Given the description of an element on the screen output the (x, y) to click on. 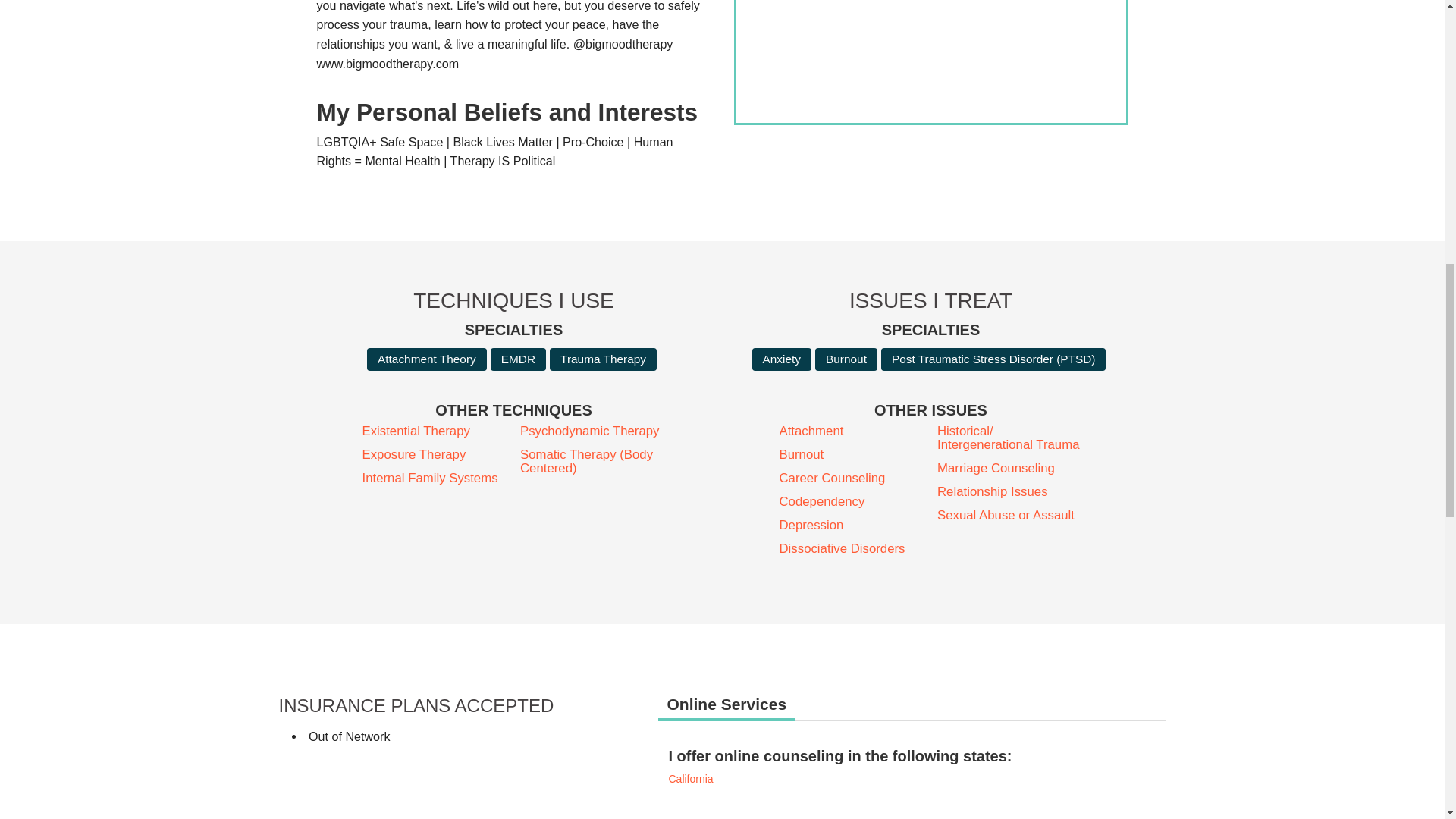
Learn about Exposure Therapy (435, 454)
EMDR (518, 359)
Learn about Internal Family Systems (435, 478)
Learn about Trauma Therapy (603, 359)
Existential Therapy (435, 431)
Dr. Kelsey Therapy Intro (930, 61)
Attachment Theory (426, 359)
Learn about Attachment Theory (426, 359)
Trauma Therapy (603, 359)
Learn about Existential Therapy (435, 431)
